Given the description of an element on the screen output the (x, y) to click on. 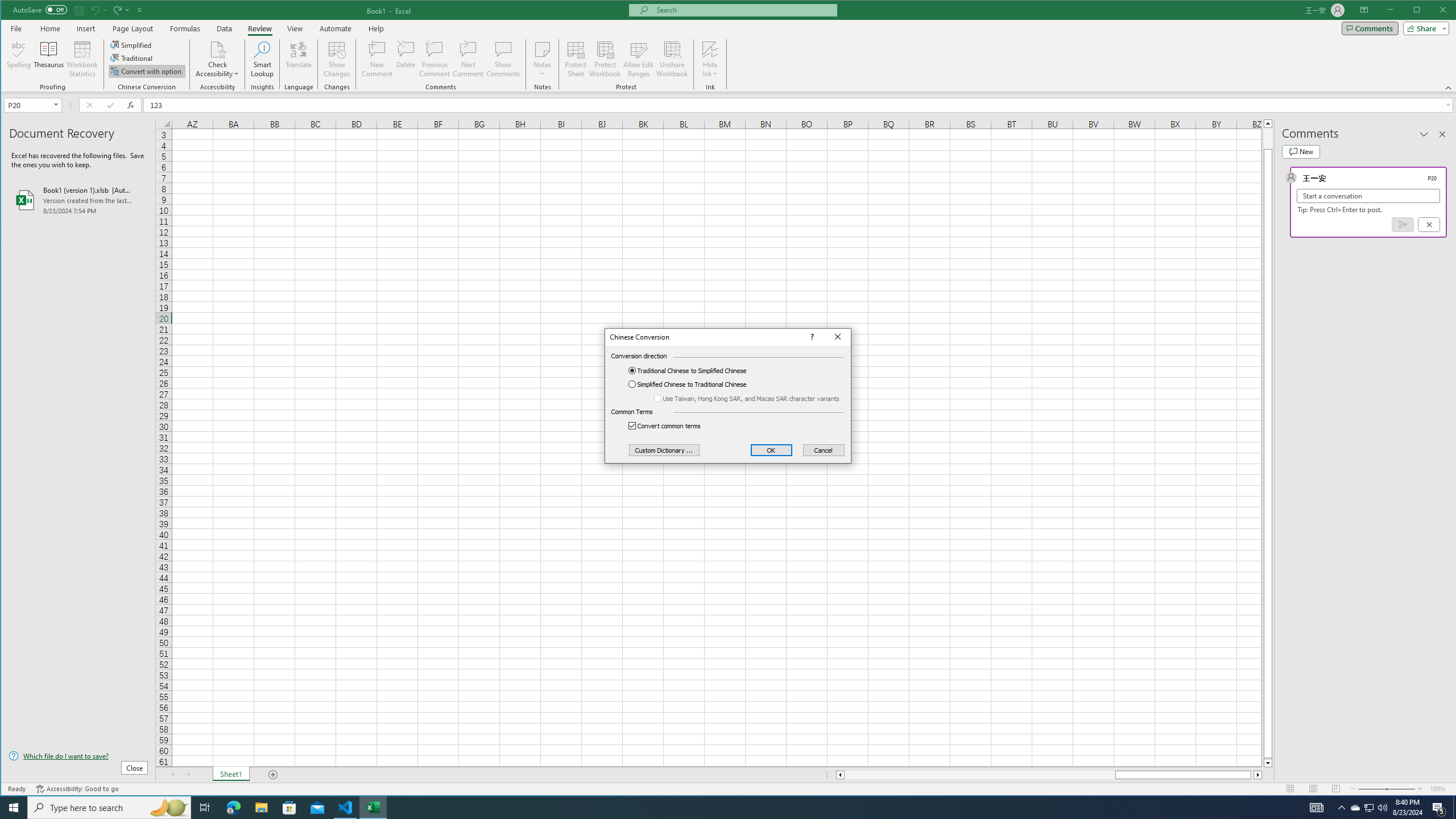
Smart Lookup (261, 59)
Thesaurus... (48, 59)
Post comment (Ctrl + Enter) (1402, 224)
Notes (541, 59)
